Given the description of an element on the screen output the (x, y) to click on. 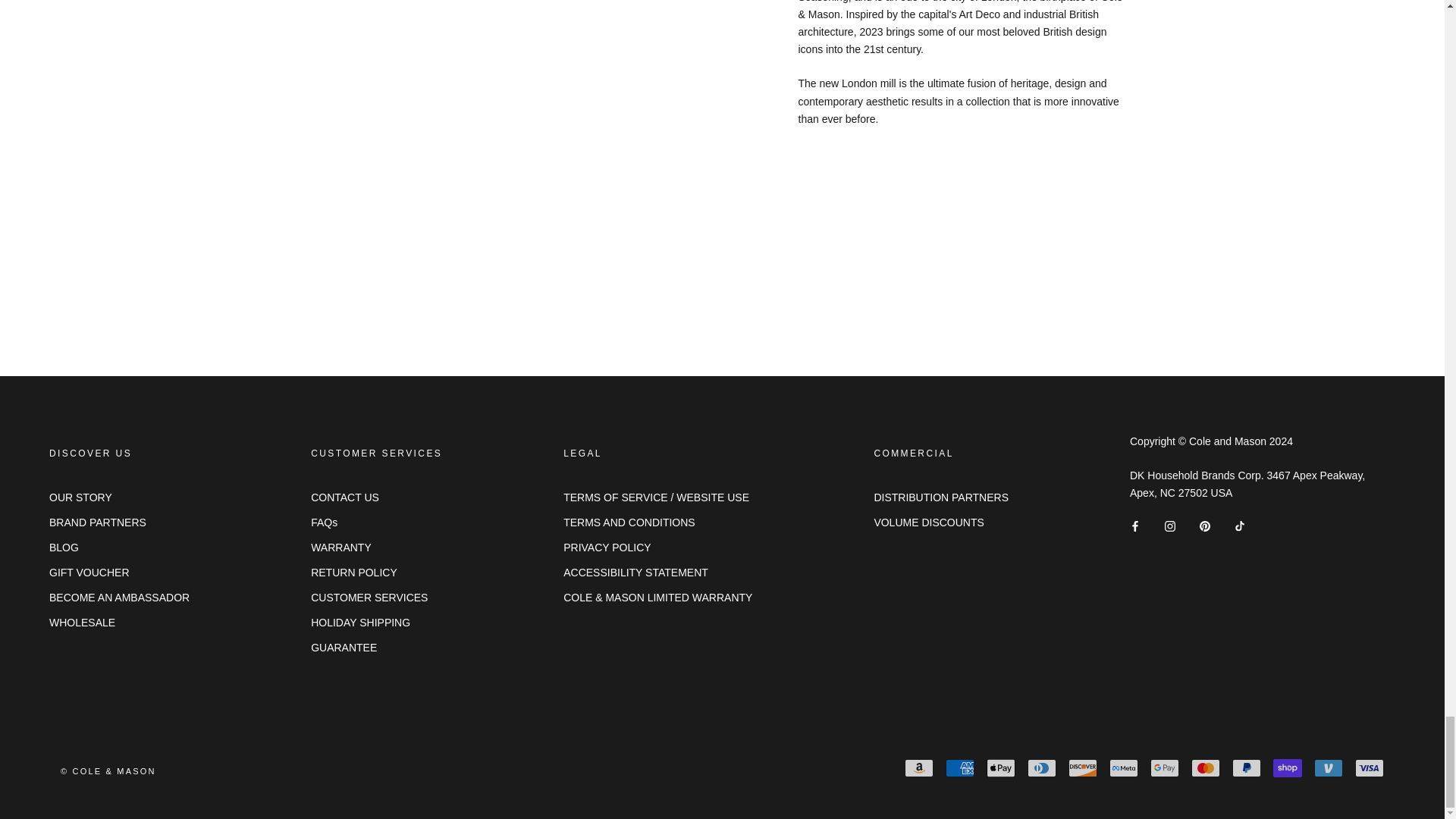
Visa (1369, 767)
Meta Pay (1123, 767)
Amazon (918, 767)
Shop Pay (1286, 767)
Venmo (1328, 767)
Mastercard (1205, 767)
Diners Club (1042, 767)
Discover (1082, 767)
Apple Pay (1000, 767)
PayPal (1245, 767)
Google Pay (1164, 767)
American Express (959, 767)
